Given the description of an element on the screen output the (x, y) to click on. 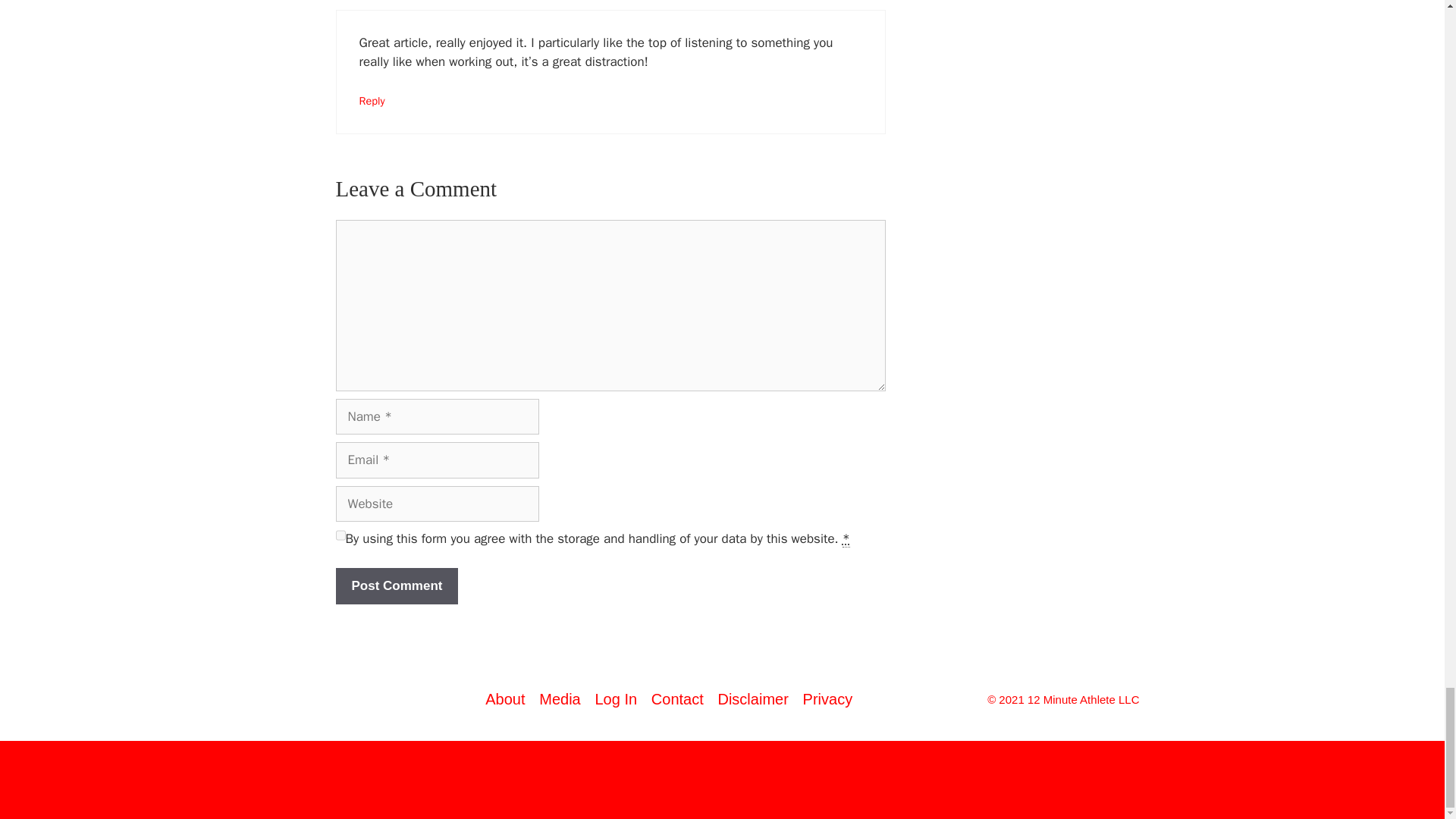
Post Comment (396, 586)
